Given the description of an element on the screen output the (x, y) to click on. 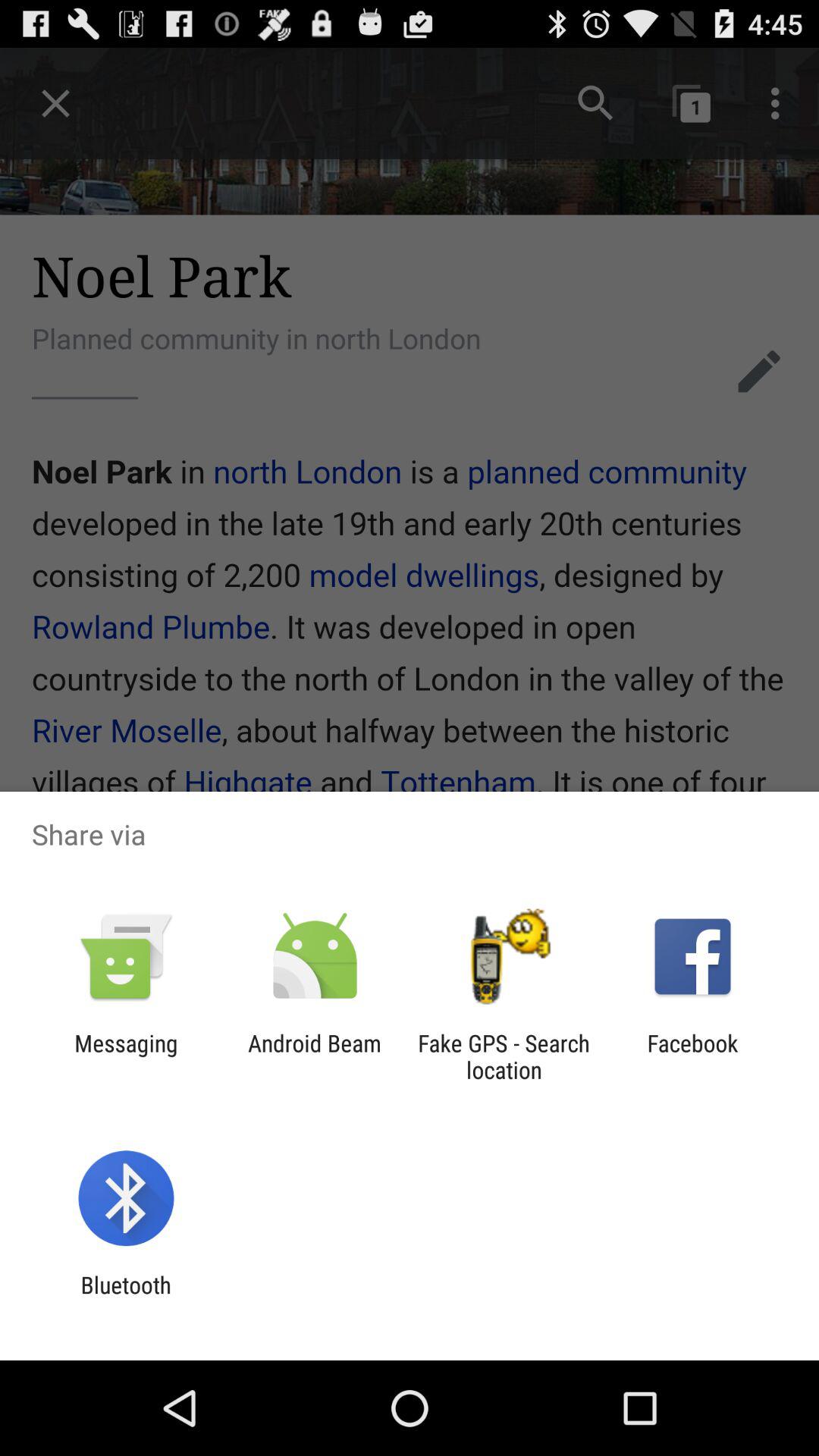
swipe until android beam icon (314, 1056)
